Given the description of an element on the screen output the (x, y) to click on. 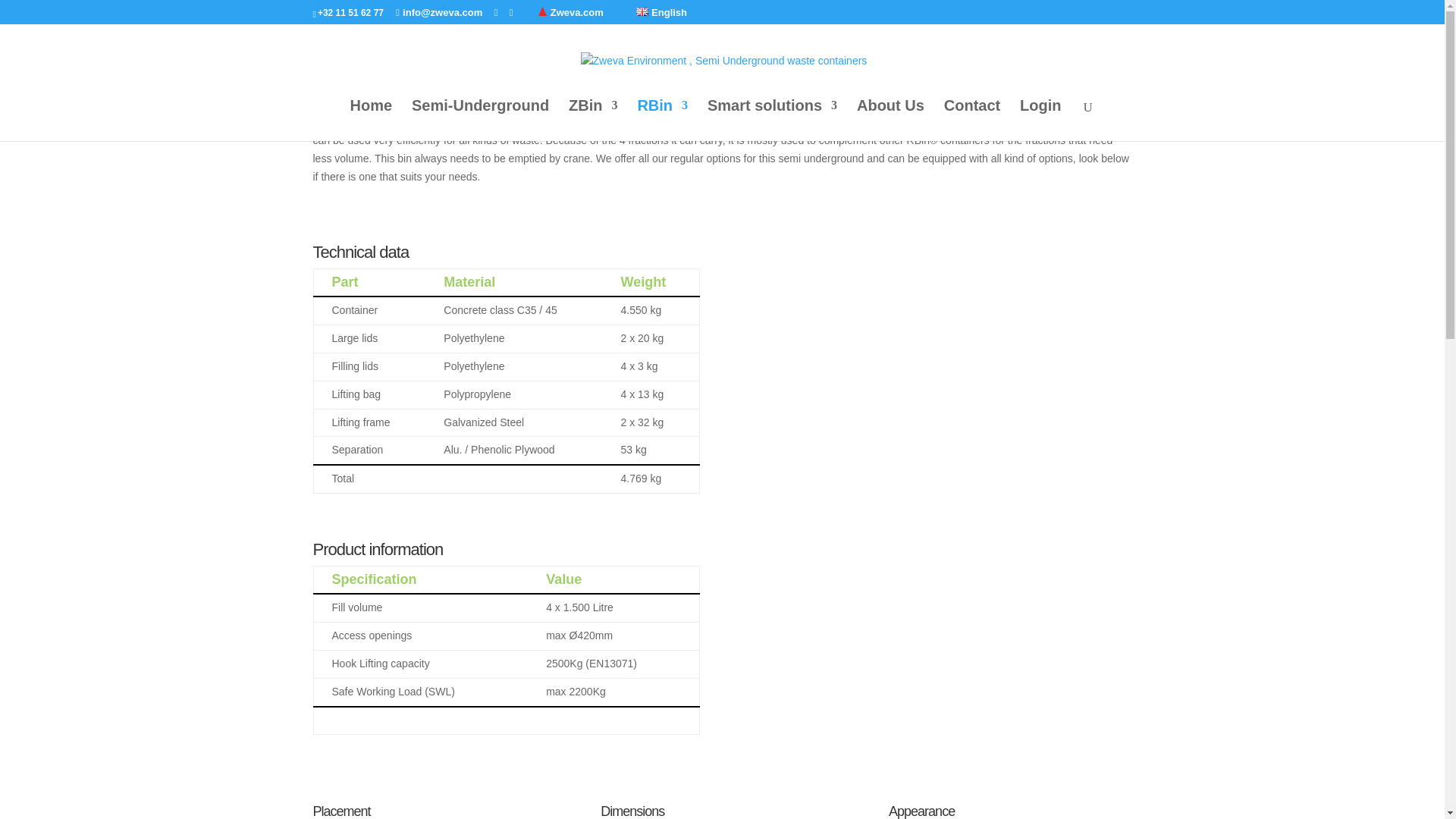
RBin (662, 119)
Home (371, 119)
English (661, 12)
Smart solutions (772, 119)
English (641, 11)
Zweva.com (577, 12)
Contact (971, 119)
ZBin (593, 119)
About Us (890, 119)
Login (1040, 119)
